Given the description of an element on the screen output the (x, y) to click on. 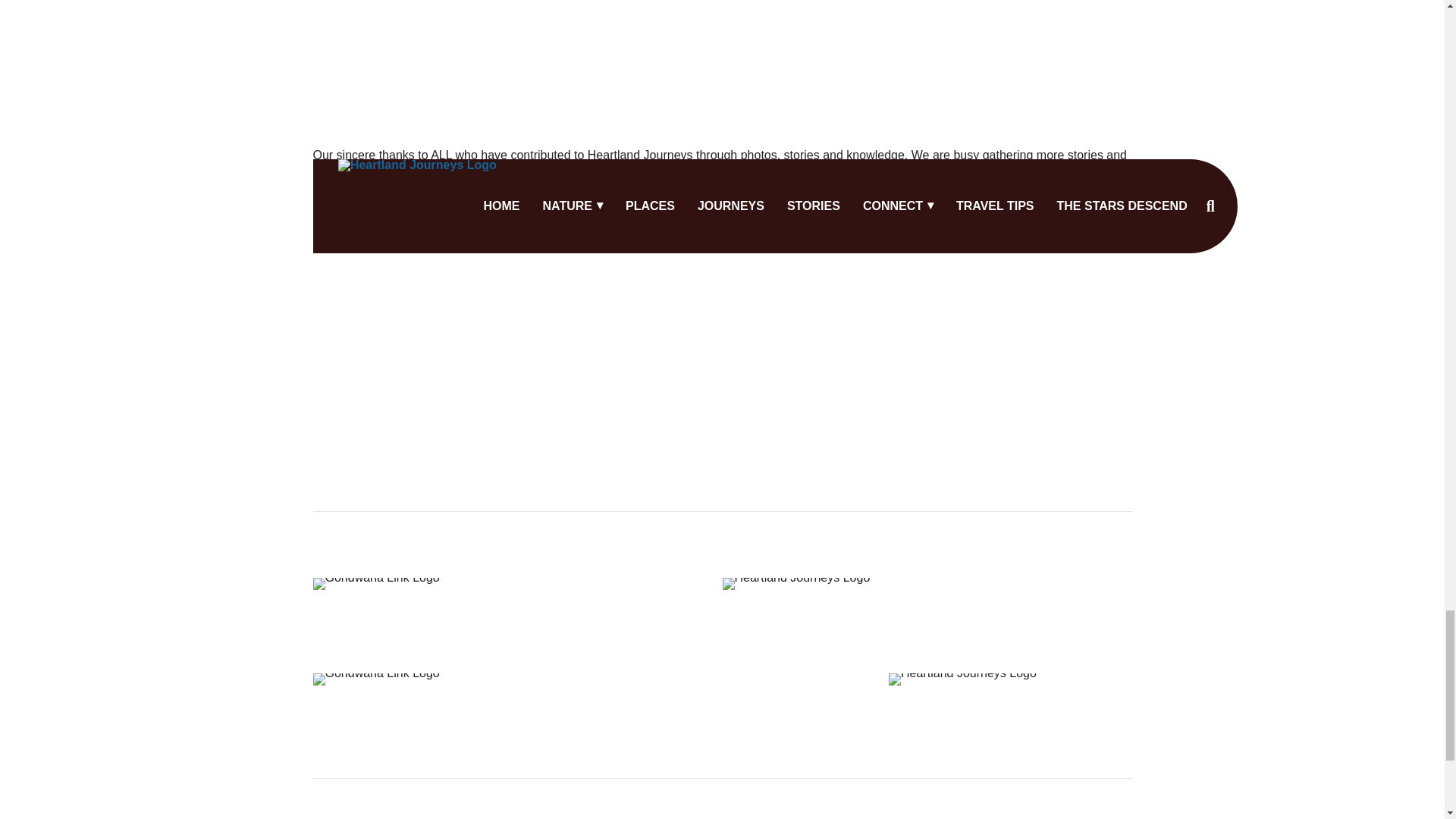
Heartland Journeys Logo (962, 679)
Heartland Journeys Logo (795, 583)
Home (476, 814)
supporting (1061, 178)
Nature (532, 814)
